Given the description of an element on the screen output the (x, y) to click on. 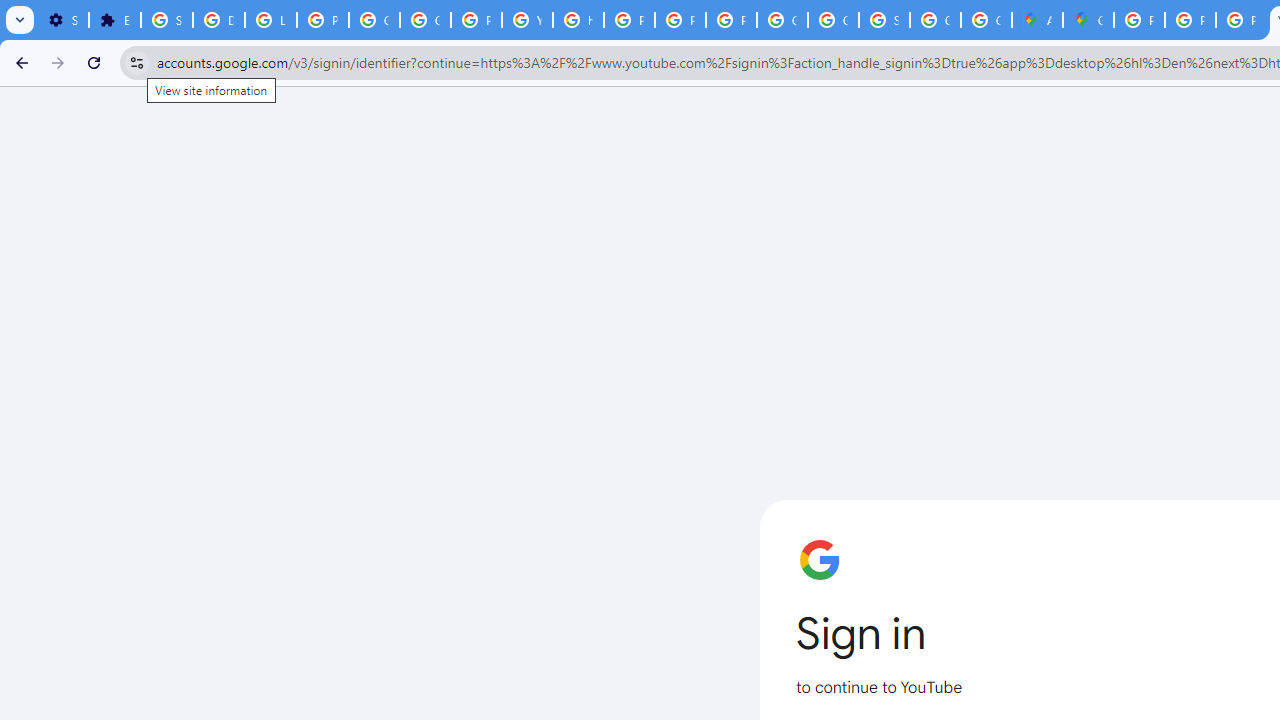
YouTube (526, 20)
Sign in - Google Accounts (166, 20)
Privacy Help Center - Policies Help (1189, 20)
Google Account Help (374, 20)
Delete photos & videos - Computer - Google Photos Help (218, 20)
Create your Google Account (986, 20)
